Given the description of an element on the screen output the (x, y) to click on. 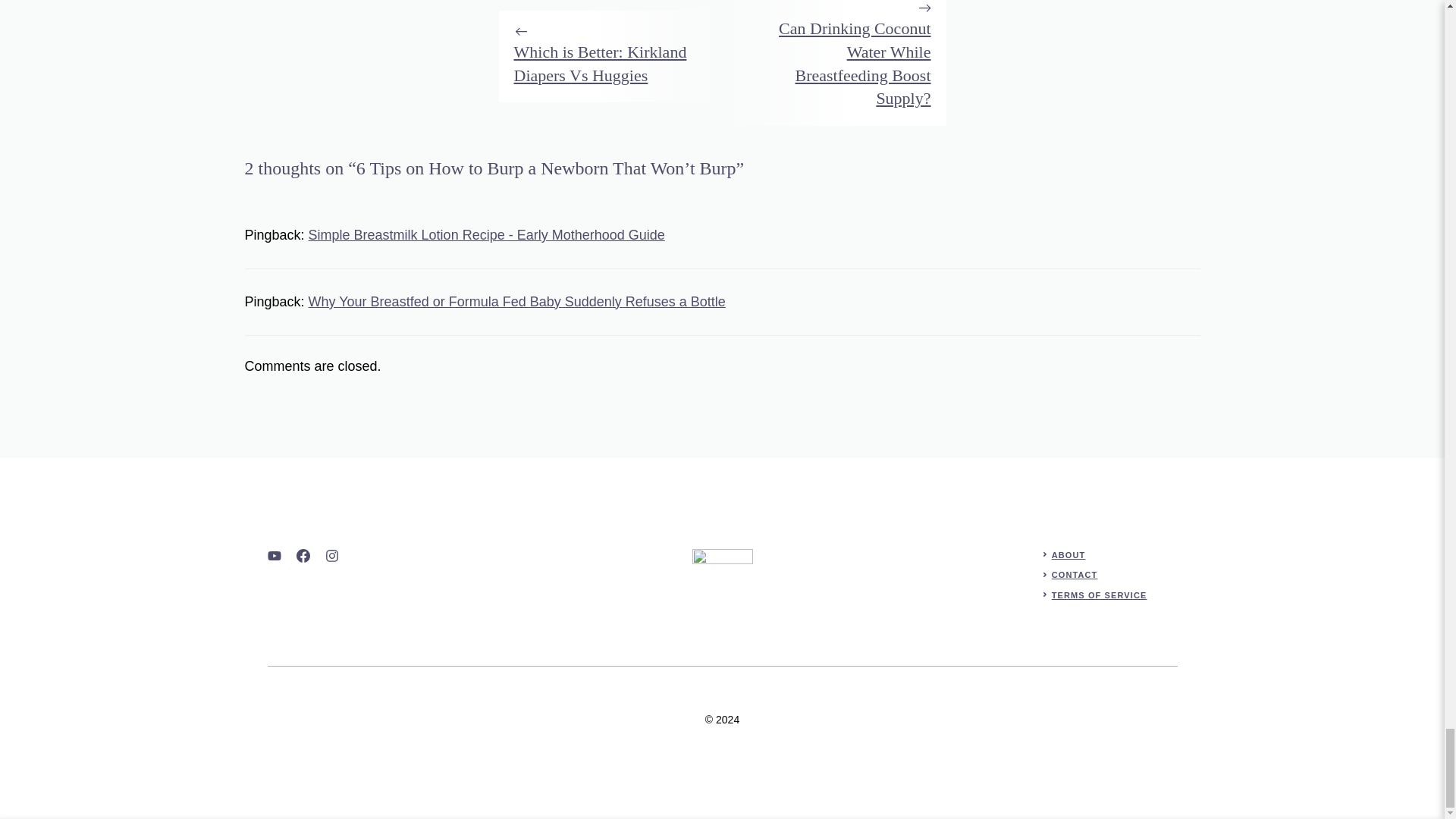
logo-EMG-e1681116118384 (721, 578)
